Given the description of an element on the screen output the (x, y) to click on. 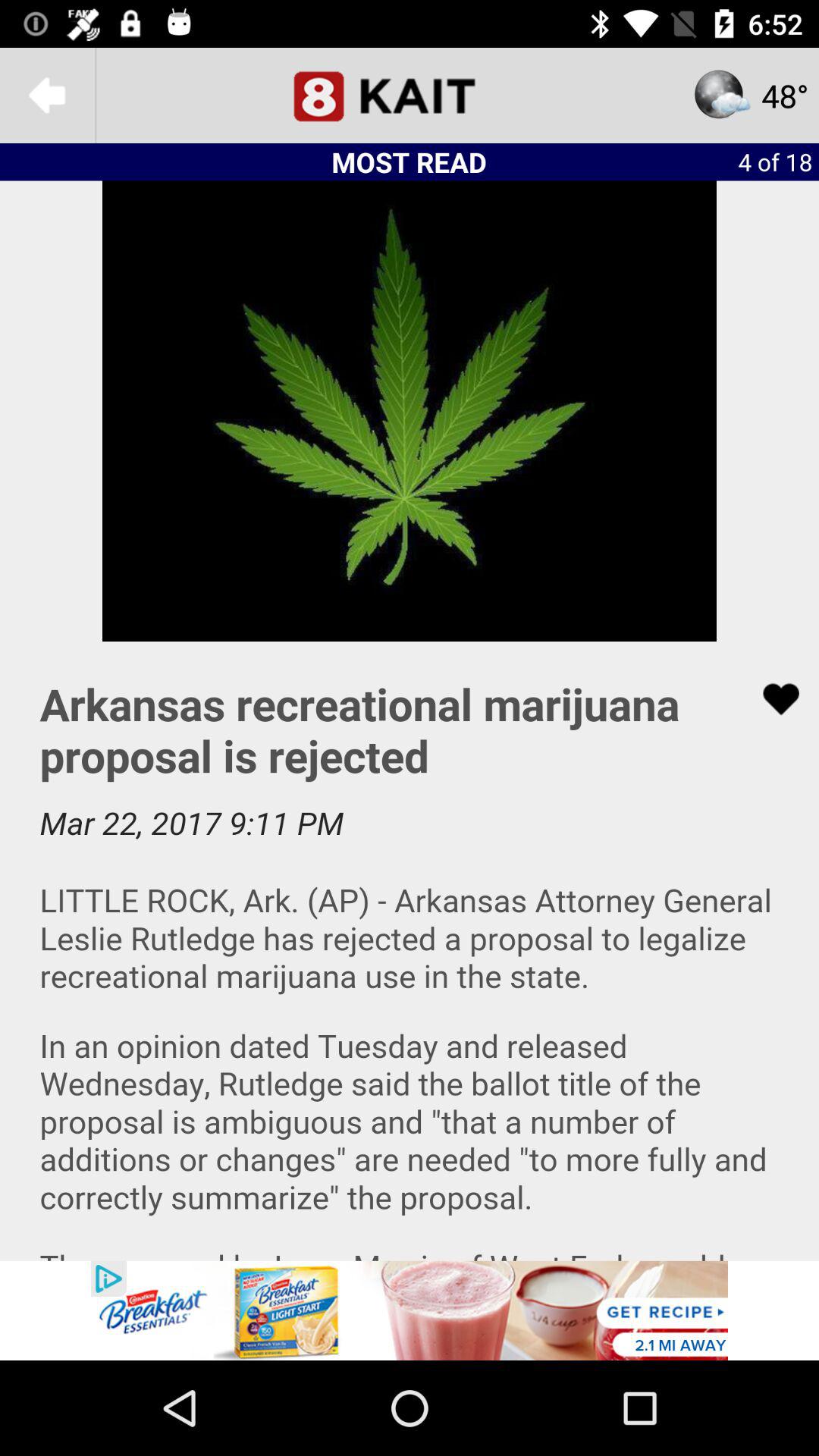
advertisement page (409, 1310)
